Given the description of an element on the screen output the (x, y) to click on. 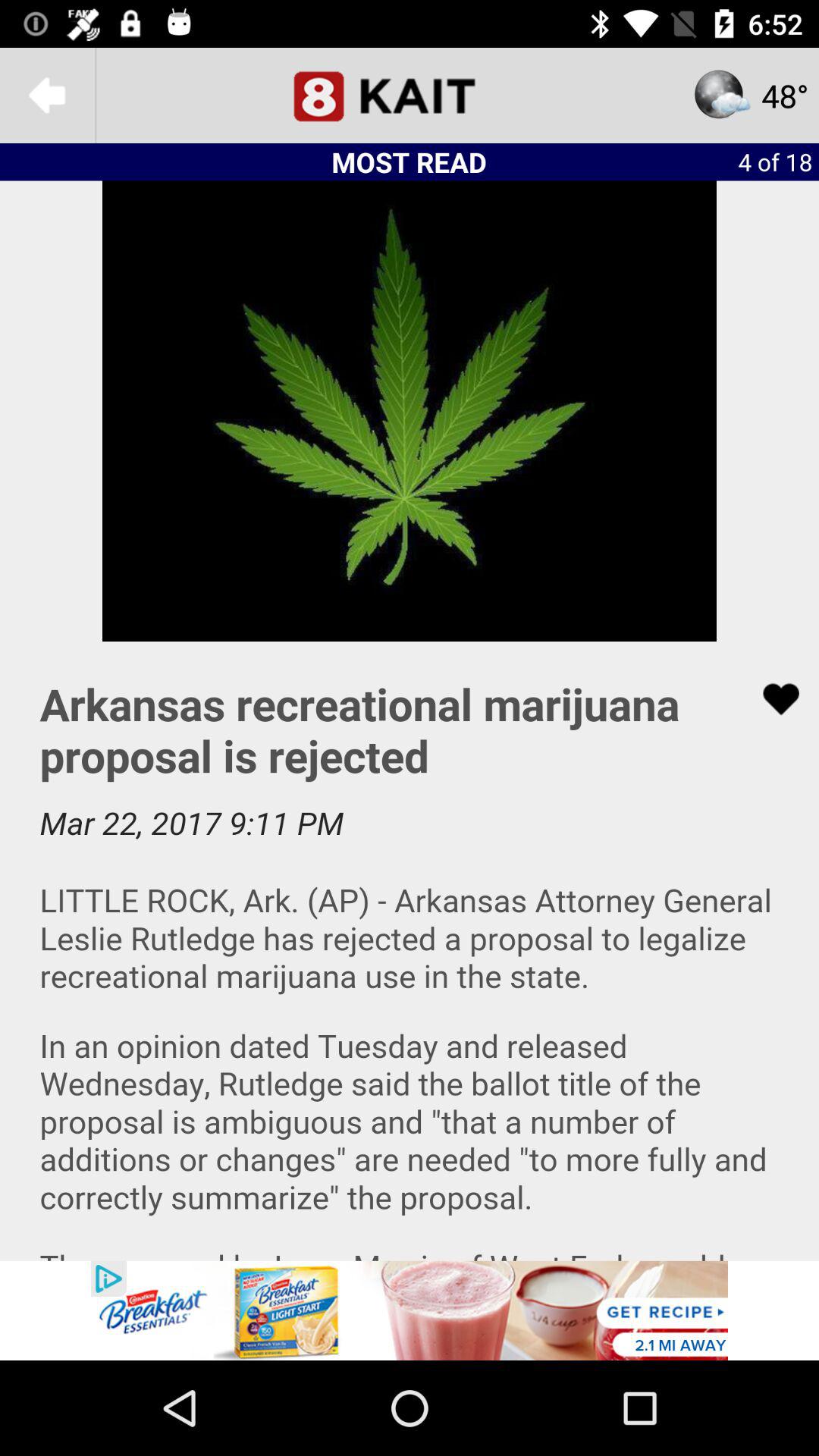
advertisement page (409, 1310)
